Given the description of an element on the screen output the (x, y) to click on. 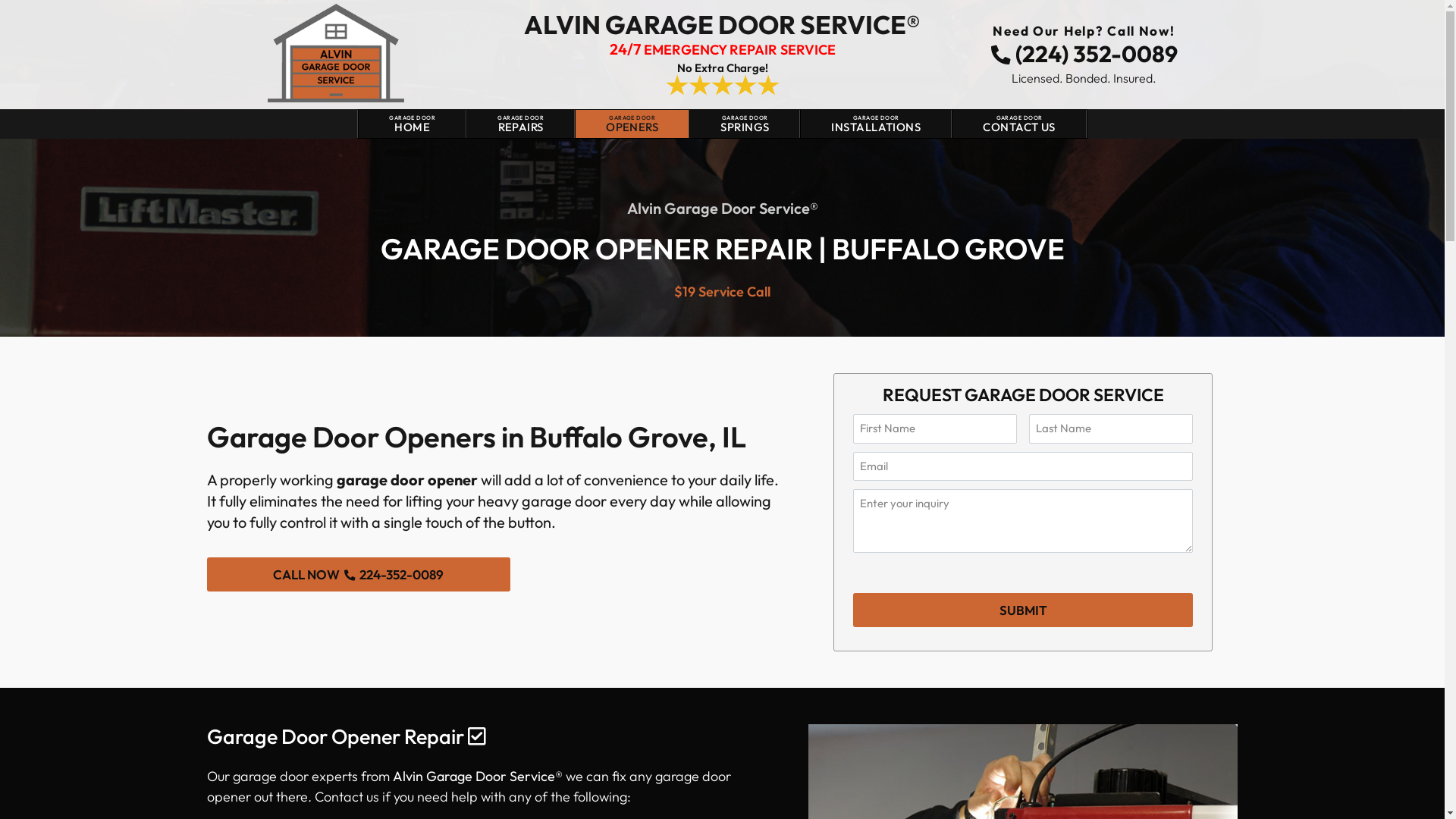
GARAGE DOOR
SPRINGS Element type: text (743, 123)
Garage Door Repair in Buffalo Grove, IL Element type: hover (334, 52)
GARAGE DOOR
HOME Element type: text (411, 123)
SUBMIT Element type: text (1022, 610)
GARAGE DOOR
REPAIRS Element type: text (519, 123)
Need Our Help? Call Now!
(224) 352-0089 Element type: text (1083, 46)
CALL NOW 224-352-0089 Element type: text (357, 574)
GARAGE DOOR
INSTALLATIONS Element type: text (874, 123)
GARAGE DOOR
OPENERS Element type: text (631, 123)
GARAGE DOOR
CONTACT US Element type: text (1018, 123)
